Given the description of an element on the screen output the (x, y) to click on. 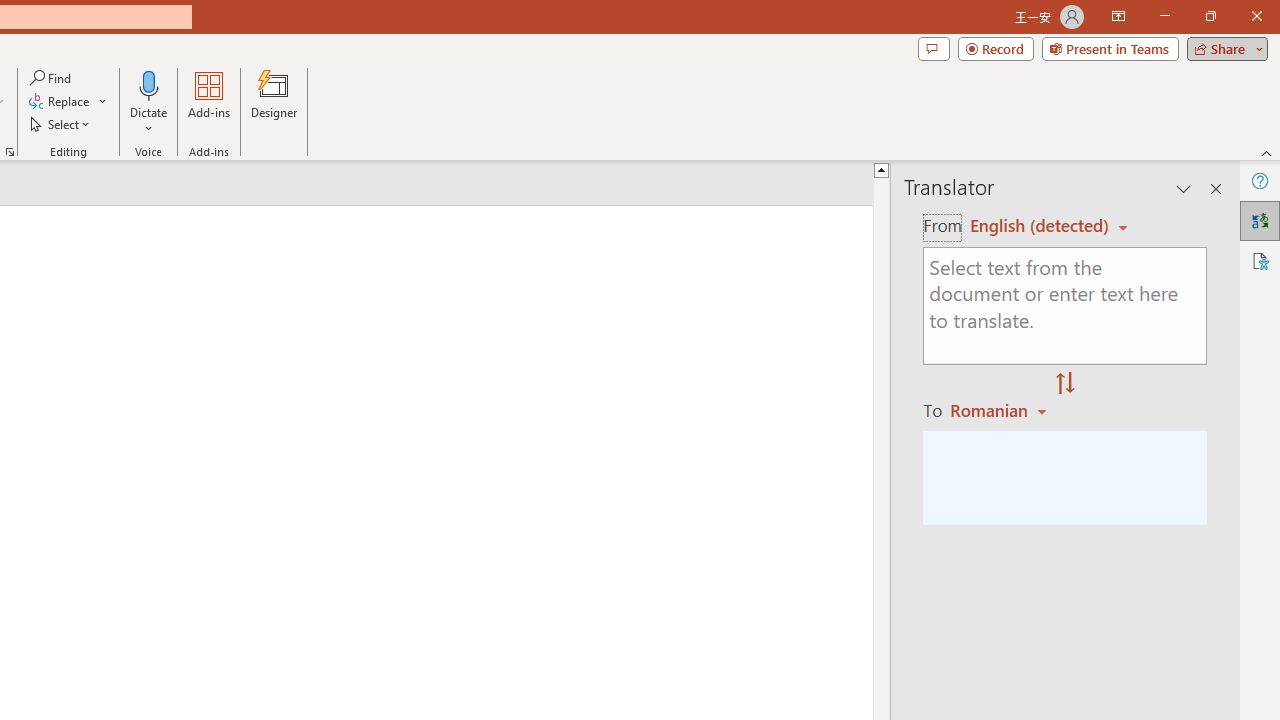
Dictate (149, 84)
Restore Down (1210, 16)
Ribbon Display Options (1118, 16)
Find... (51, 78)
Help (1260, 180)
Designer (274, 102)
More Options (149, 121)
Accessibility (1260, 260)
Dictate (149, 102)
Collapse the Ribbon (1267, 152)
Select (61, 124)
Replace... (60, 101)
Present in Teams (1109, 48)
